Given the description of an element on the screen output the (x, y) to click on. 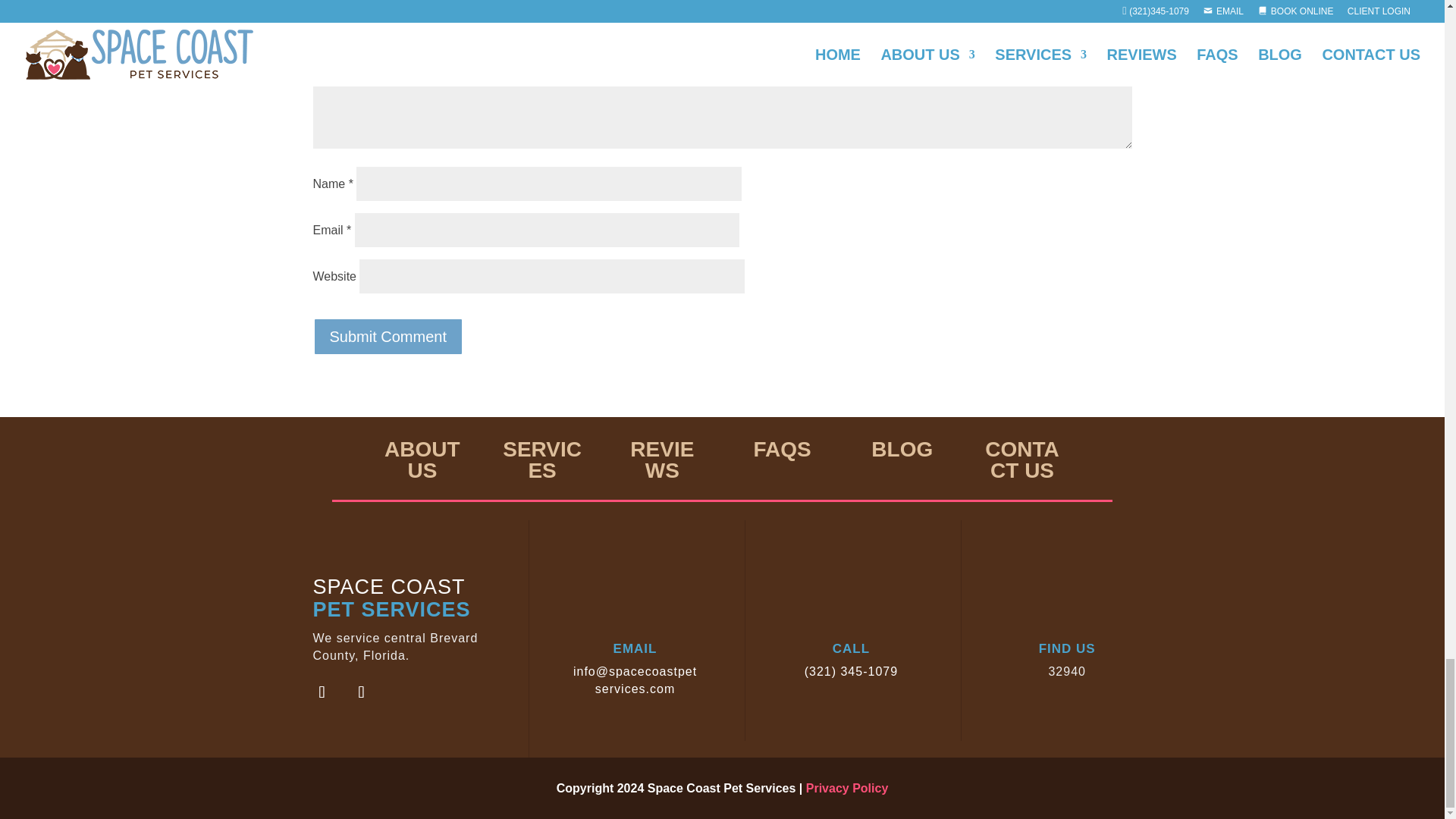
Follow on Instagram (360, 692)
Follow on Facebook (320, 692)
Submit Comment (388, 336)
